Given the description of an element on the screen output the (x, y) to click on. 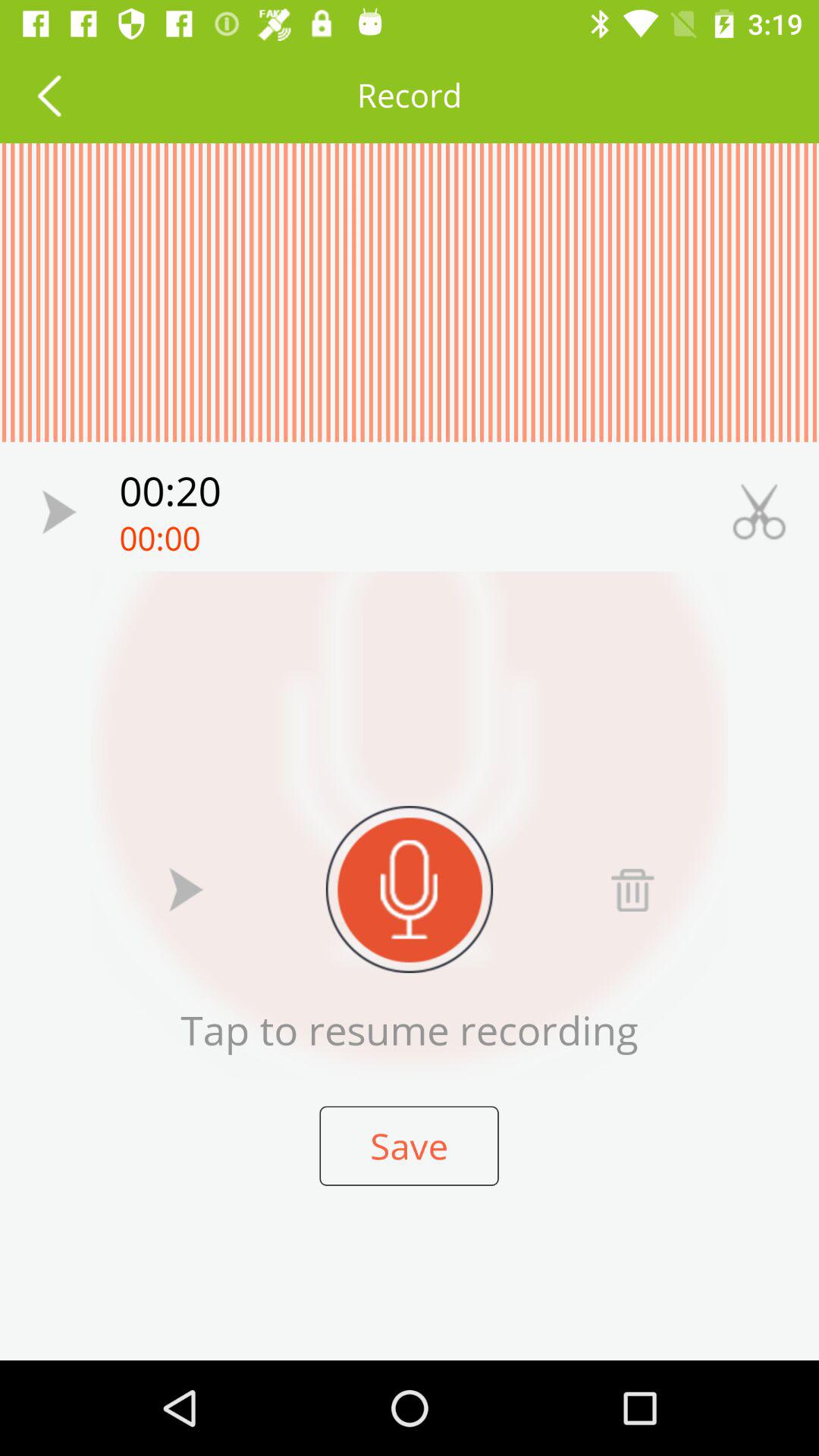
delete recording (632, 889)
